Given the description of an element on the screen output the (x, y) to click on. 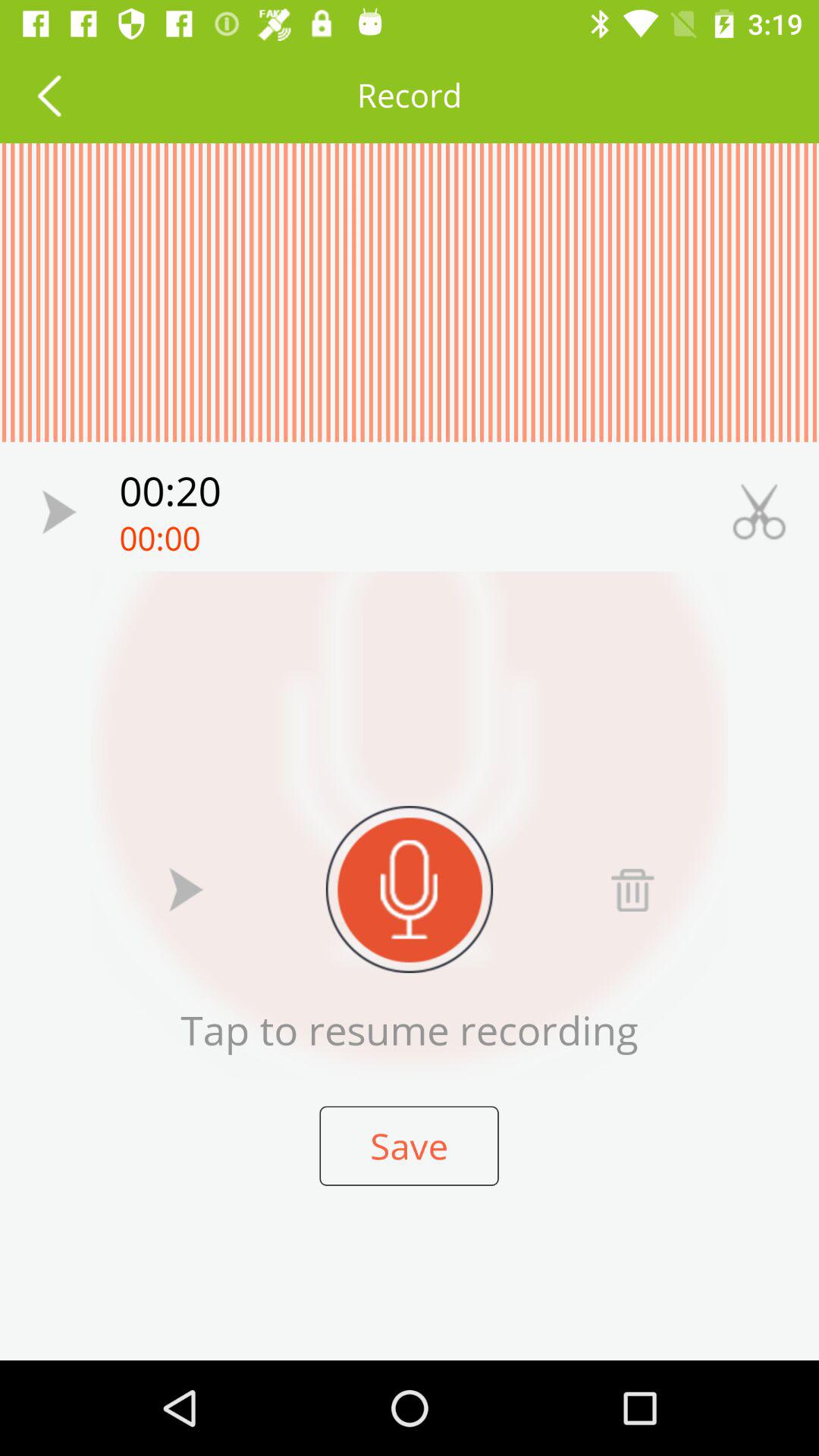
delete recording (632, 889)
